Given the description of an element on the screen output the (x, y) to click on. 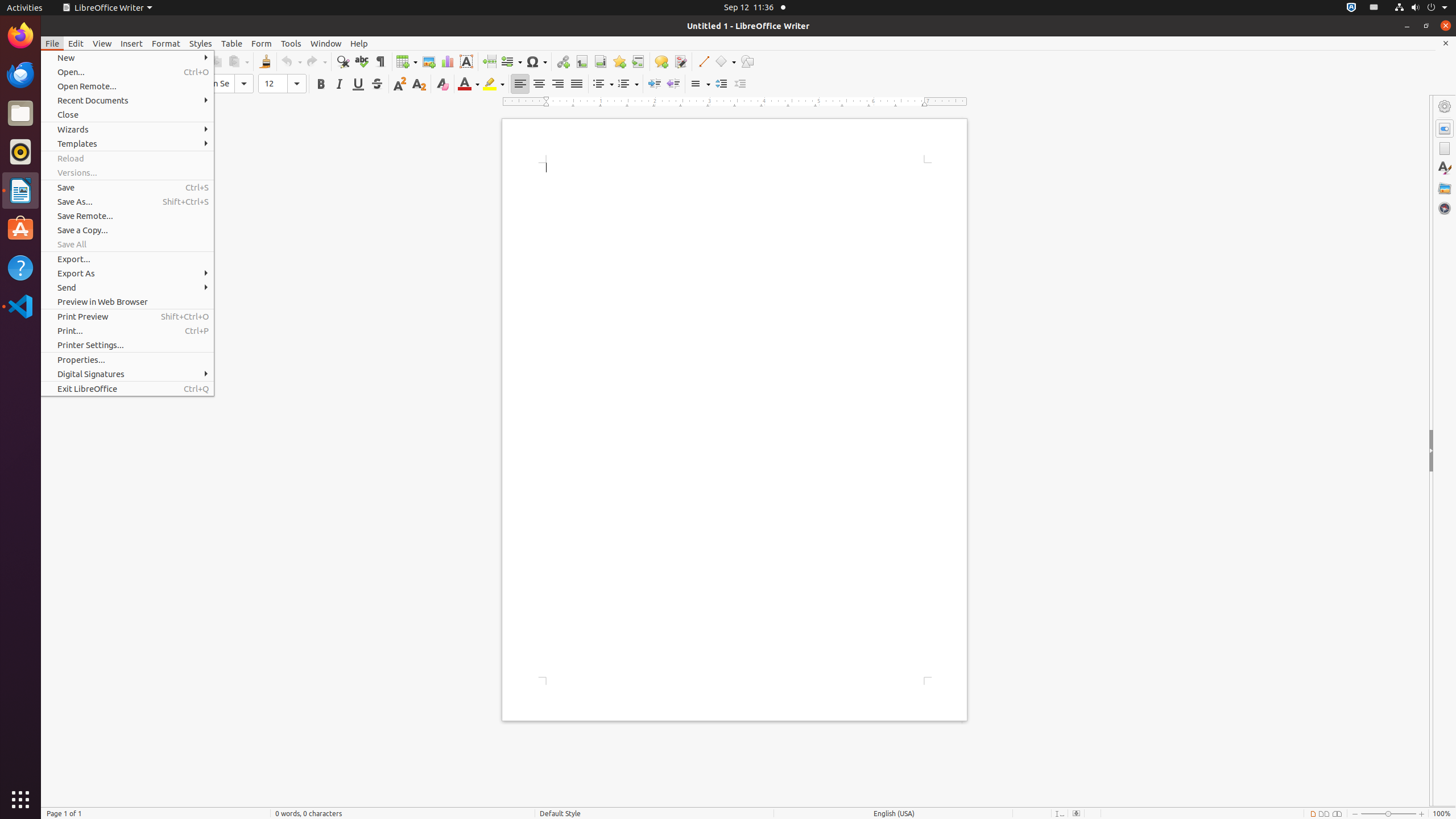
Close Element type: menu-item (126, 114)
Send Element type: menu (126, 287)
New Element type: menu (126, 57)
Center Element type: toggle-button (538, 83)
Font Size Element type: combo-box (282, 83)
